Given the description of an element on the screen output the (x, y) to click on. 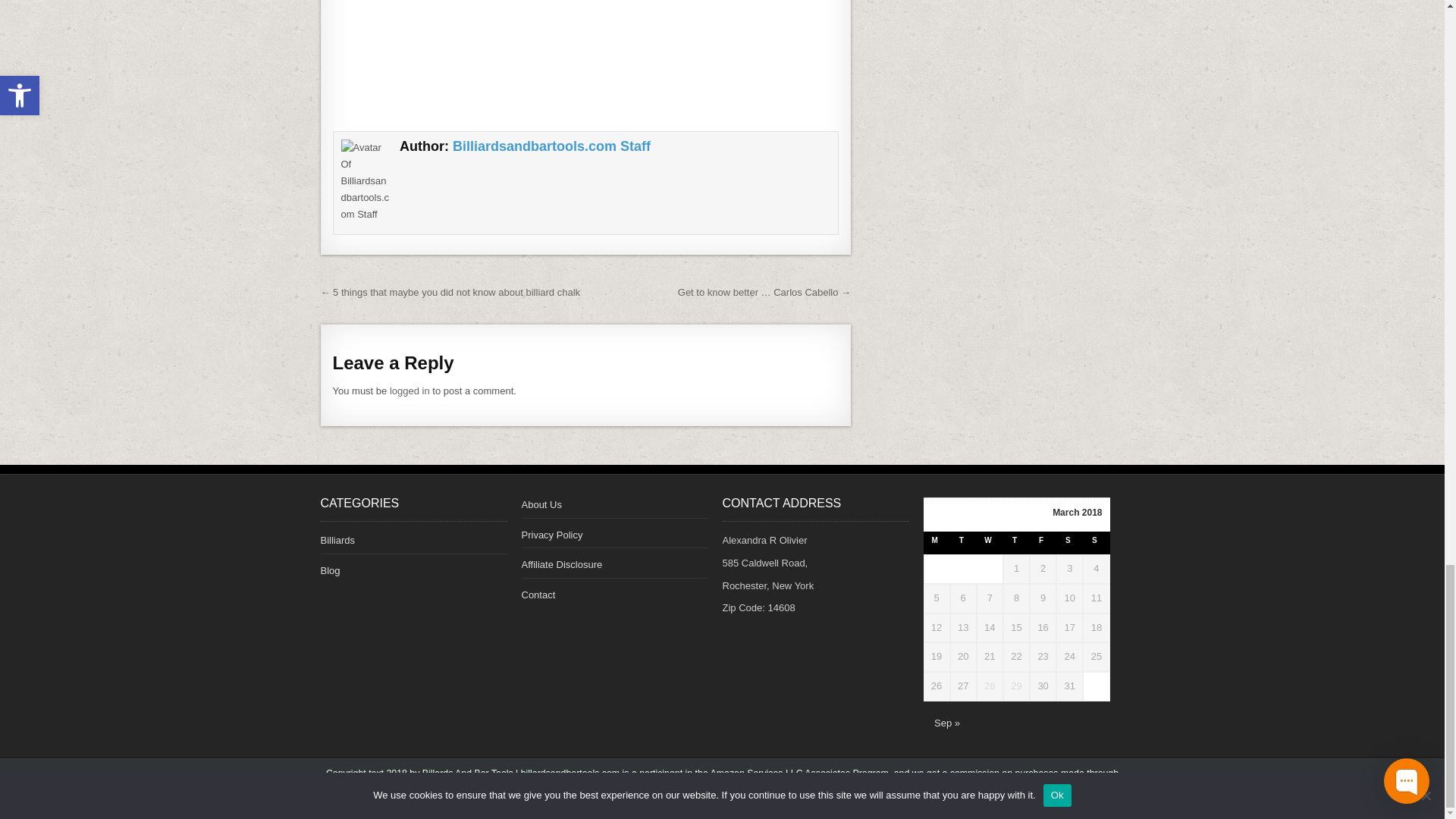
logged in (409, 390)
Monday (936, 542)
Thursday (1016, 542)
Friday (1043, 542)
Tuesday (963, 542)
Sunday (1096, 542)
Saturday (1070, 542)
Billiardsandbartools.com Staff (551, 145)
Wednesday (989, 542)
